Given the description of an element on the screen output the (x, y) to click on. 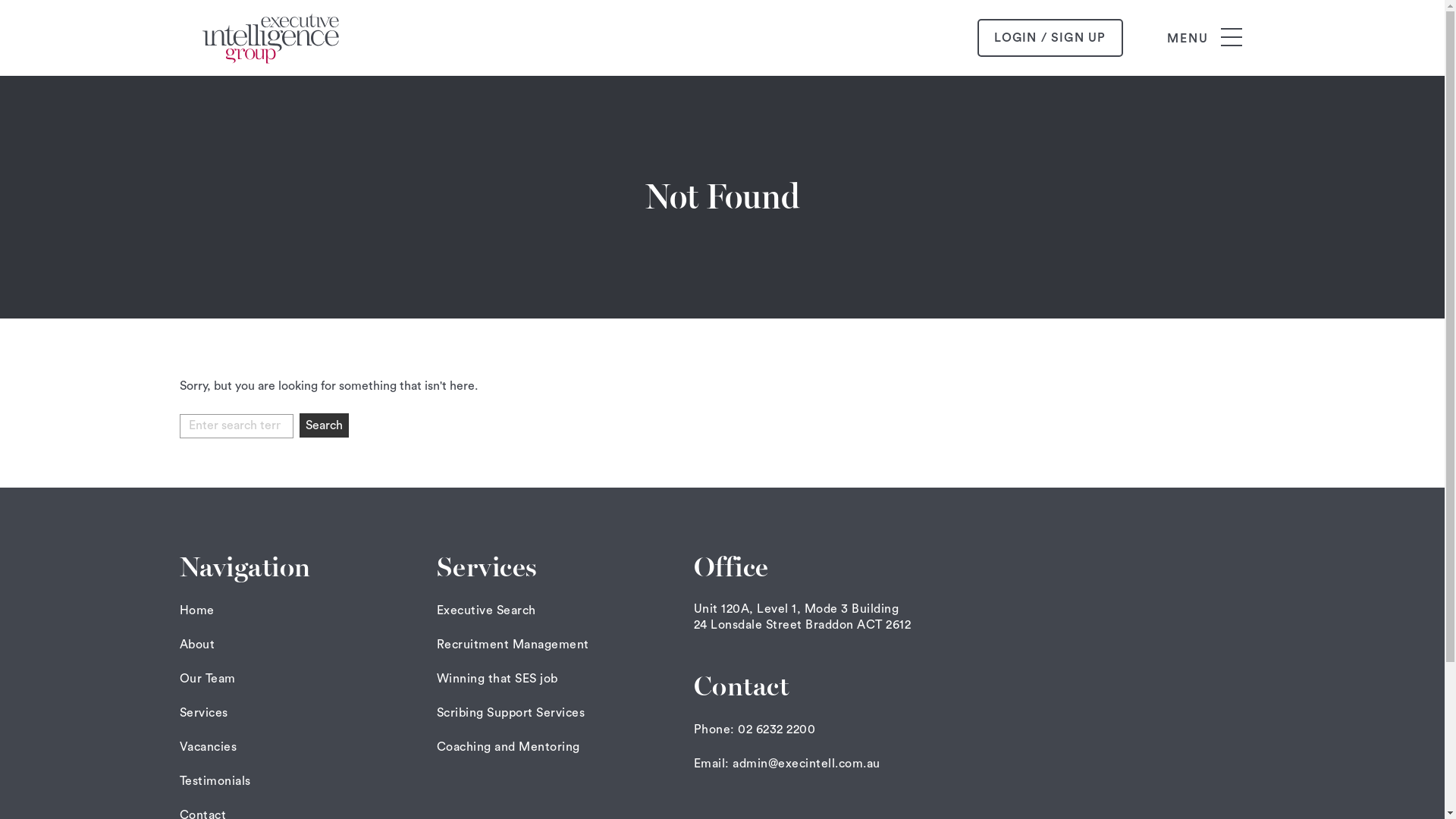
admin@execintell.com.au Element type: text (806, 763)
Coaching and Mentoring Element type: text (508, 746)
Executive Search Element type: text (486, 610)
Services Element type: text (202, 712)
Our Team Element type: text (206, 678)
Unit 120A, Level 1, Element type: text (747, 608)
02 6232 2200 Element type: text (776, 729)
LOGIN / SIGN UP Element type: text (1049, 37)
Winning that SES job Element type: text (497, 678)
Scribing Support Services Element type: text (510, 712)
About Element type: text (196, 644)
Vacancies Element type: text (207, 746)
Search Element type: text (323, 425)
Home Element type: text (195, 610)
Recruitment Management Element type: text (512, 644)
Testimonials Element type: text (214, 781)
